Given the description of an element on the screen output the (x, y) to click on. 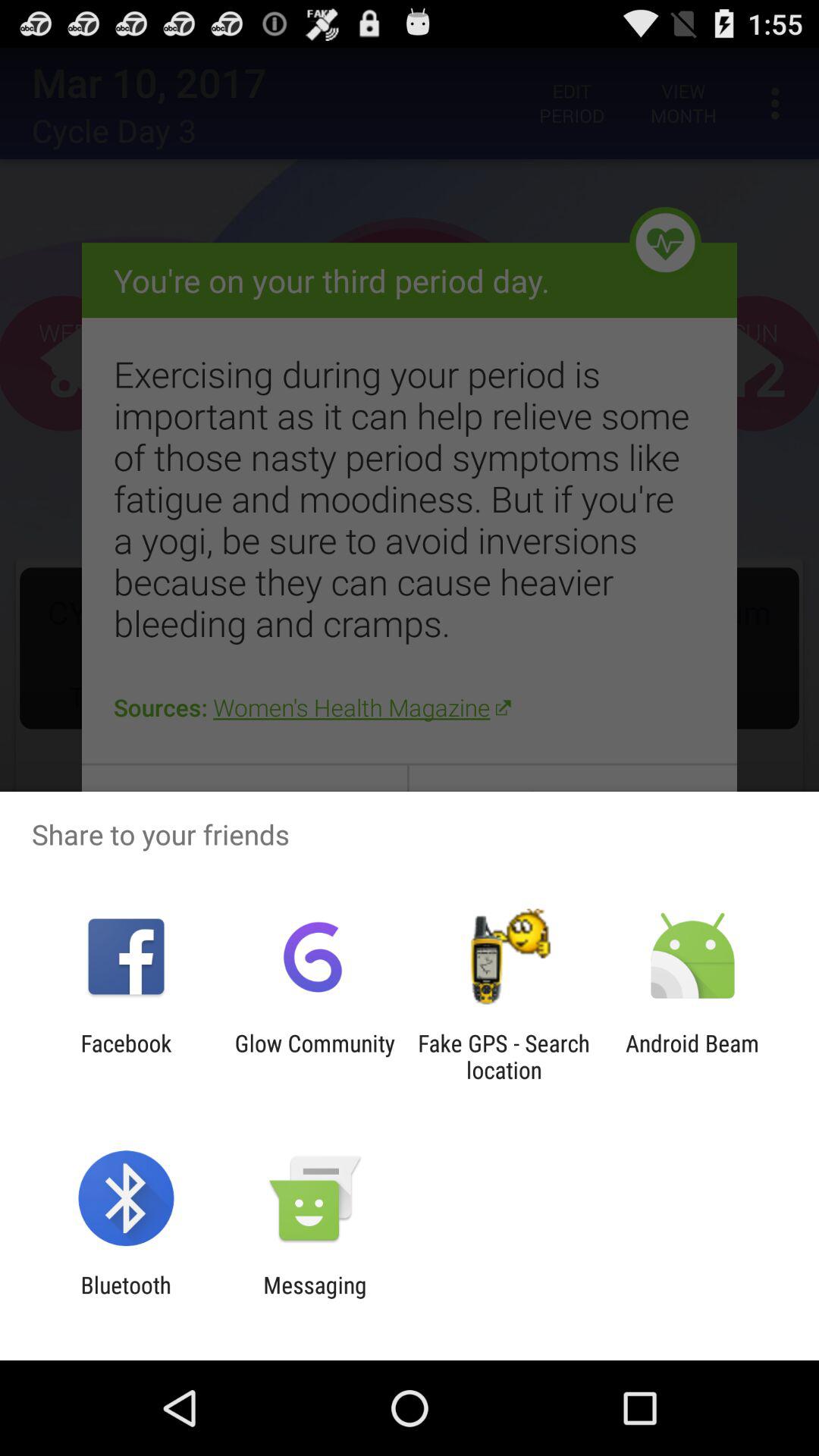
jump to the android beam icon (692, 1056)
